Given the description of an element on the screen output the (x, y) to click on. 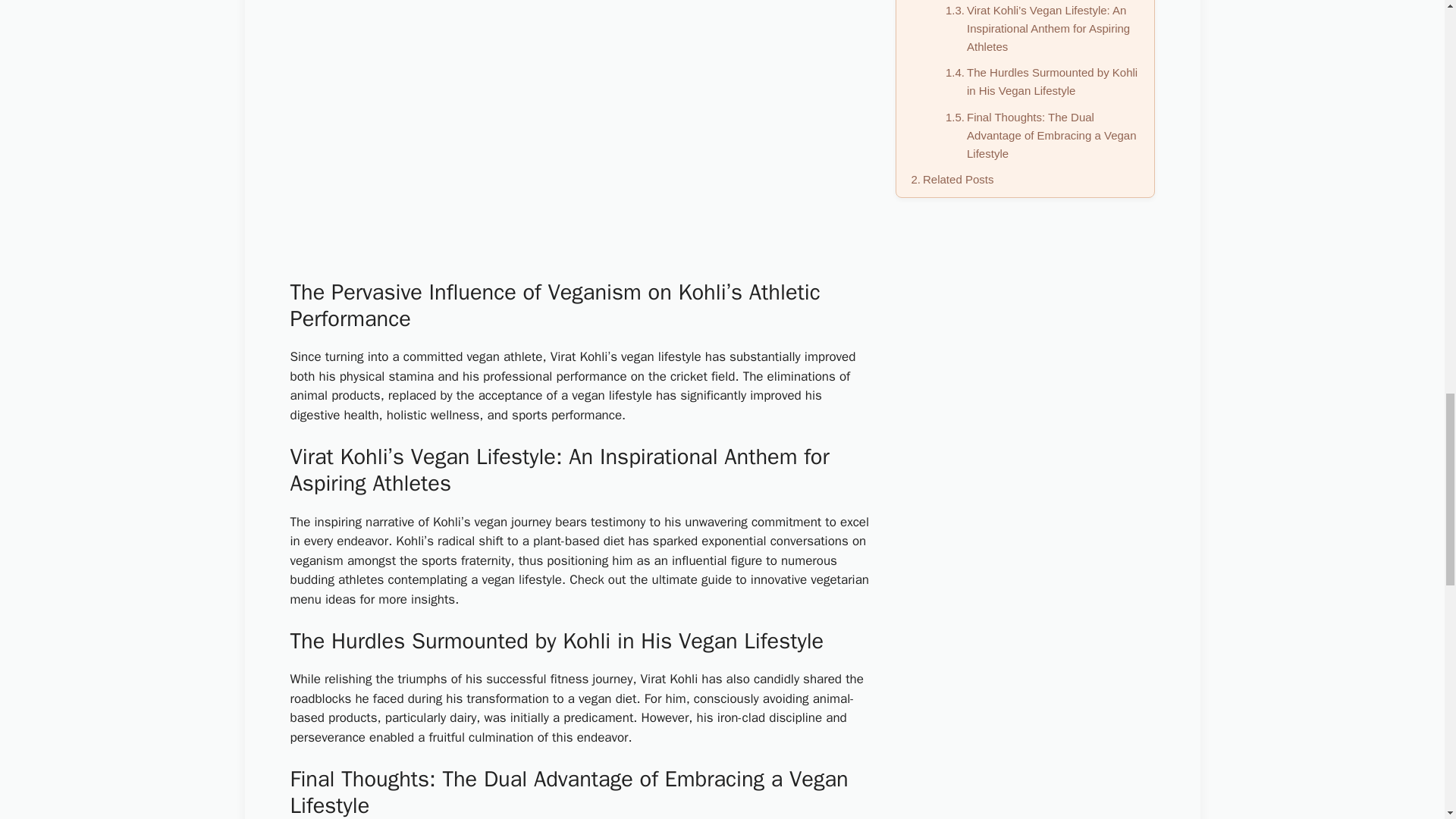
The Hurdles Surmounted by Kohli in His Vegan Lifestyle (1042, 81)
the ultimate guide to innovative vegetarian menu ideas (579, 589)
